Given the description of an element on the screen output the (x, y) to click on. 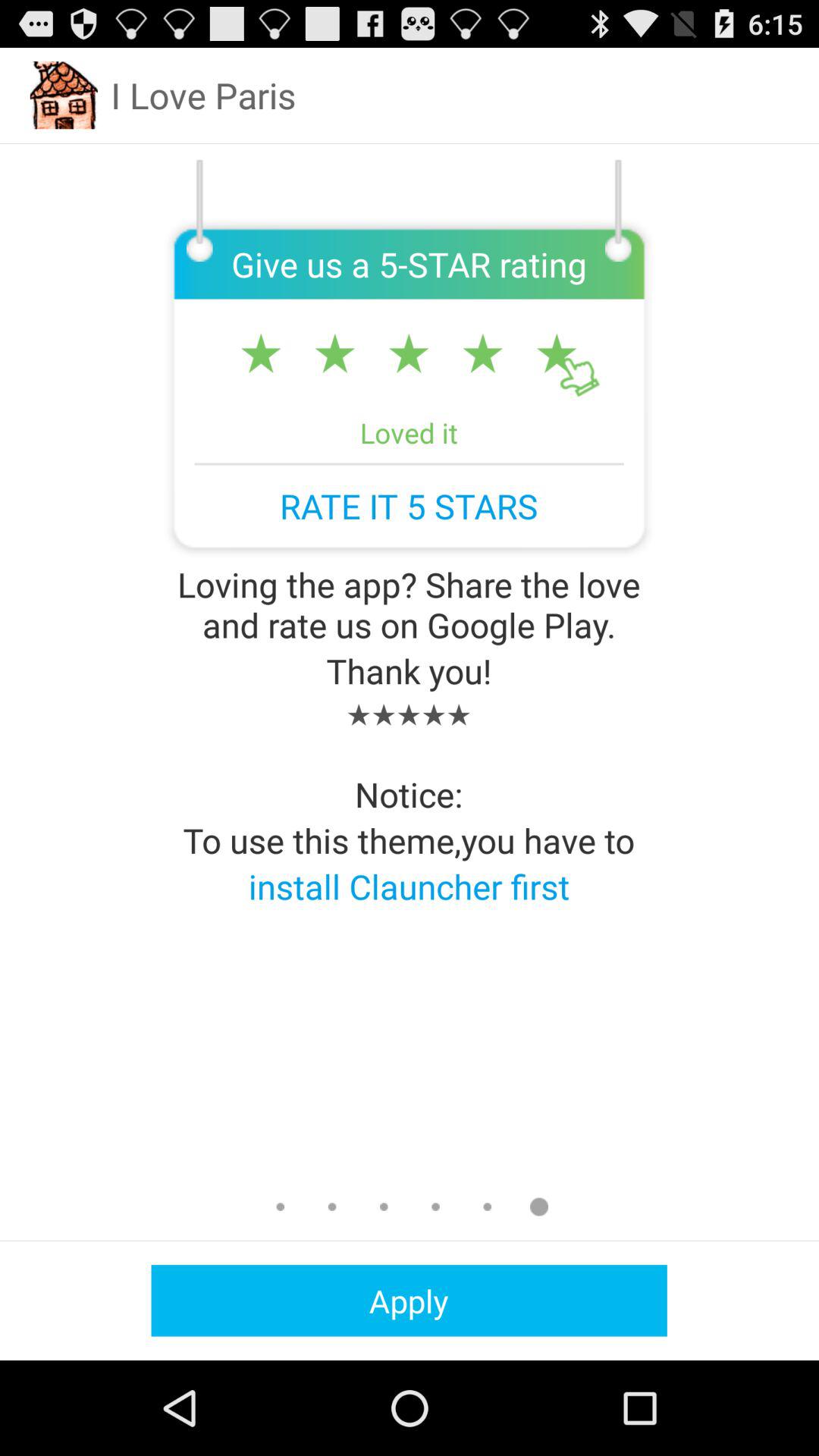
launch the install clauncher first app (409, 886)
